Given the description of an element on the screen output the (x, y) to click on. 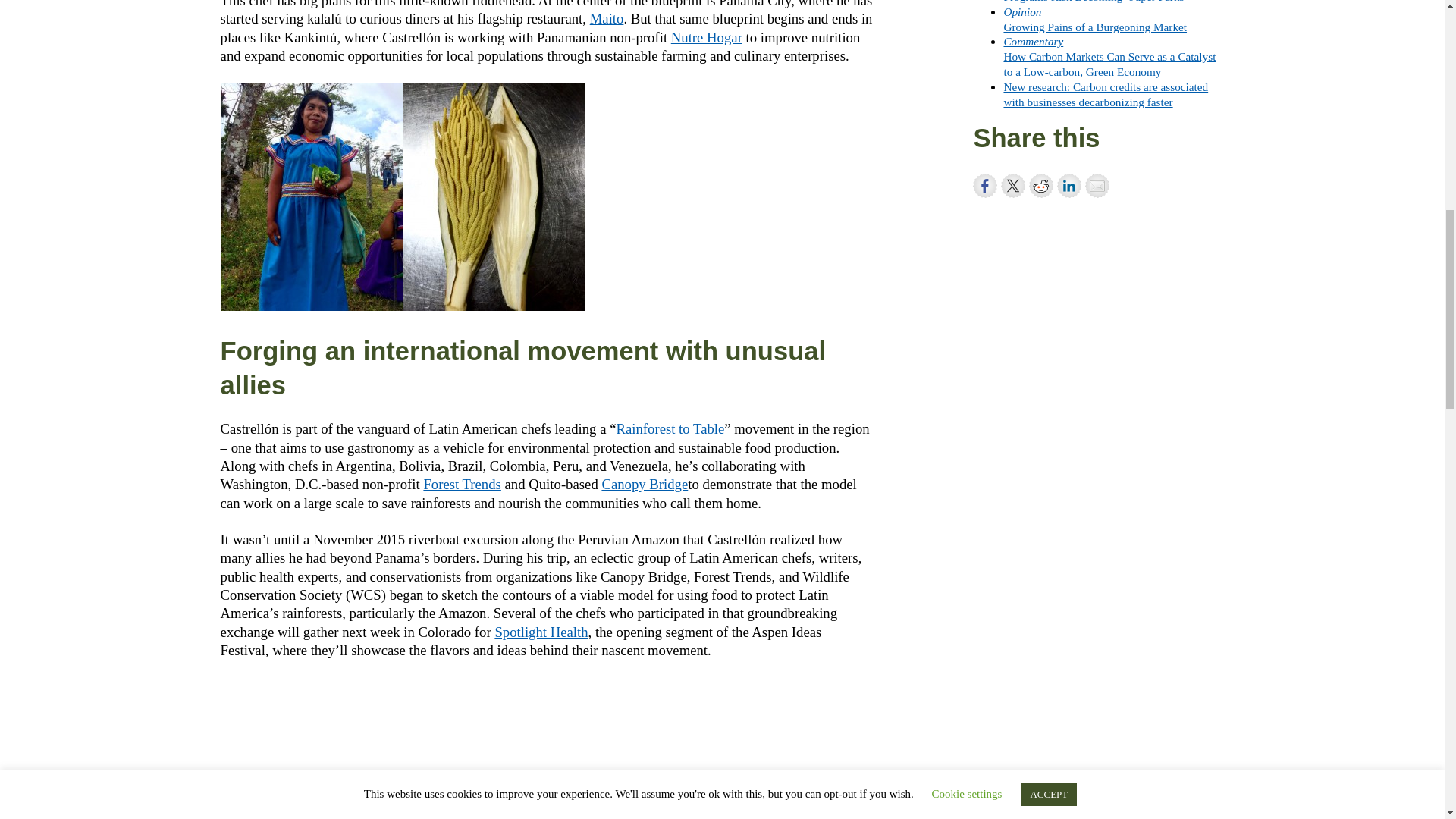
Rainforest to Table (669, 428)
Maito (1094, 18)
Nutre Hogar (606, 18)
Spotlight Health (706, 37)
Forest Trends (541, 631)
Canopy Bridge (461, 483)
